Given the description of an element on the screen output the (x, y) to click on. 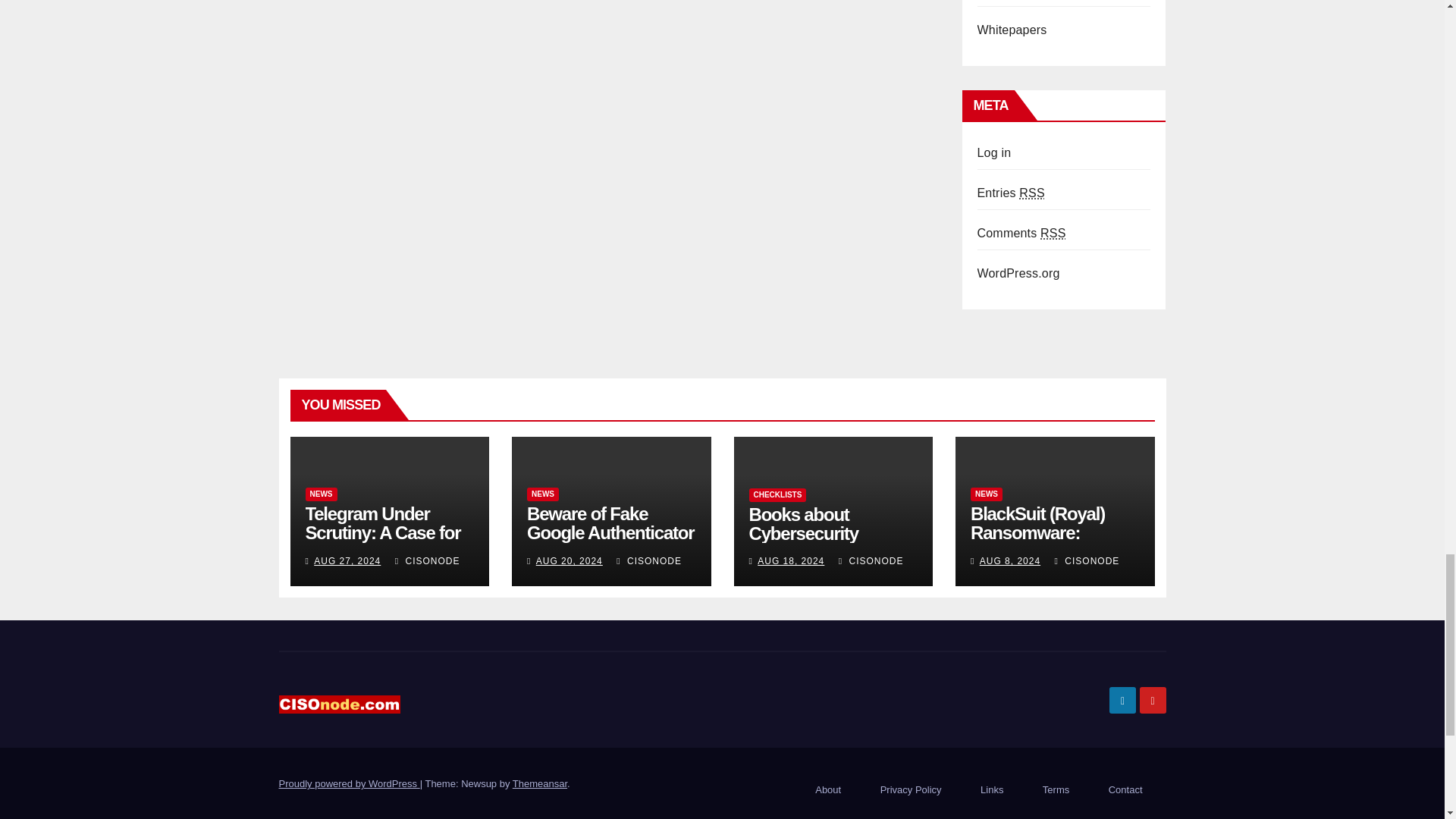
Whitepapers (1011, 29)
Really Simple Syndication (1032, 192)
Really Simple Syndication (1053, 232)
